Given the description of an element on the screen output the (x, y) to click on. 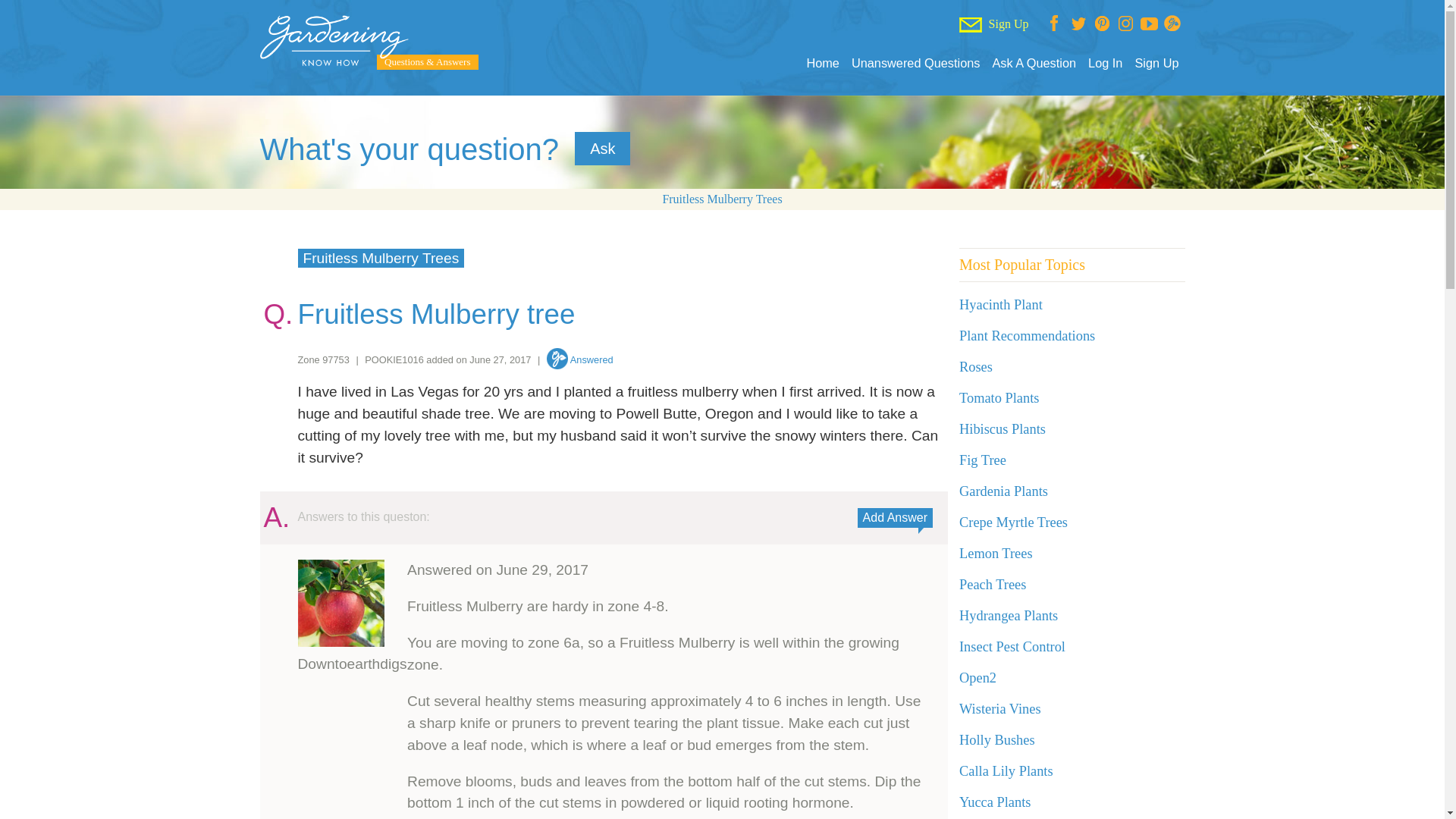
Hyacinth Plant (1000, 304)
Unanswered Questions (916, 62)
Answered (579, 359)
Lemon Trees (995, 553)
Fig Tree (982, 459)
Crepe Myrtle Trees (1013, 522)
Hibiscus Plants (1002, 428)
Hydrangea Plants (1008, 615)
Hydrangea Plants (1008, 615)
Hyacinth Plant (1000, 304)
Log In (1104, 62)
Fruitless Mulberry Trees (721, 198)
Insect Pest Control (1012, 646)
Home (822, 62)
Ask A Question (1033, 62)
